Given the description of an element on the screen output the (x, y) to click on. 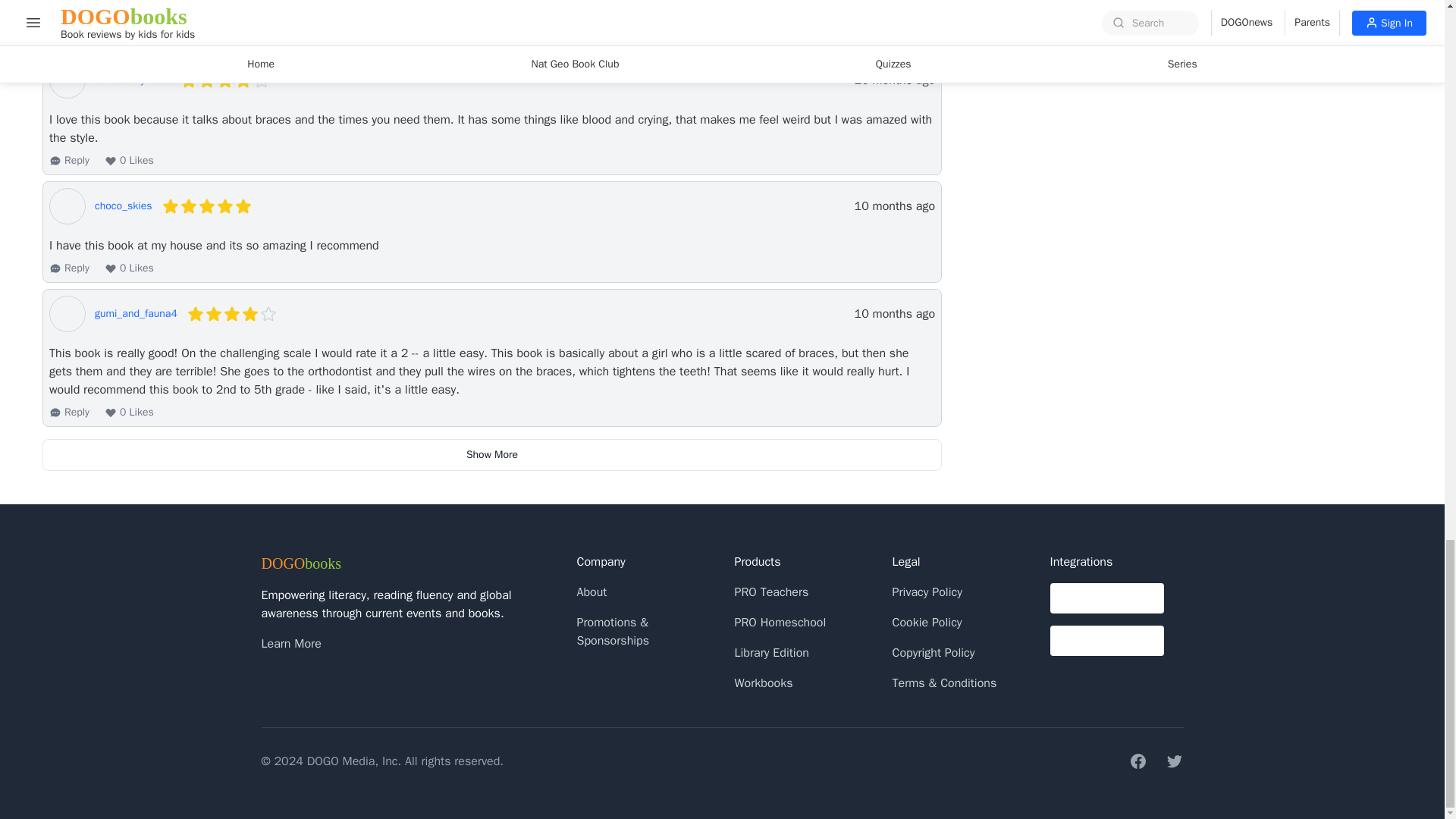
Reply (68, 34)
October 27, 2023 (894, 80)
October 26, 2023 (894, 206)
October 26, 2023 (894, 313)
2 Likes (129, 34)
